Given the description of an element on the screen output the (x, y) to click on. 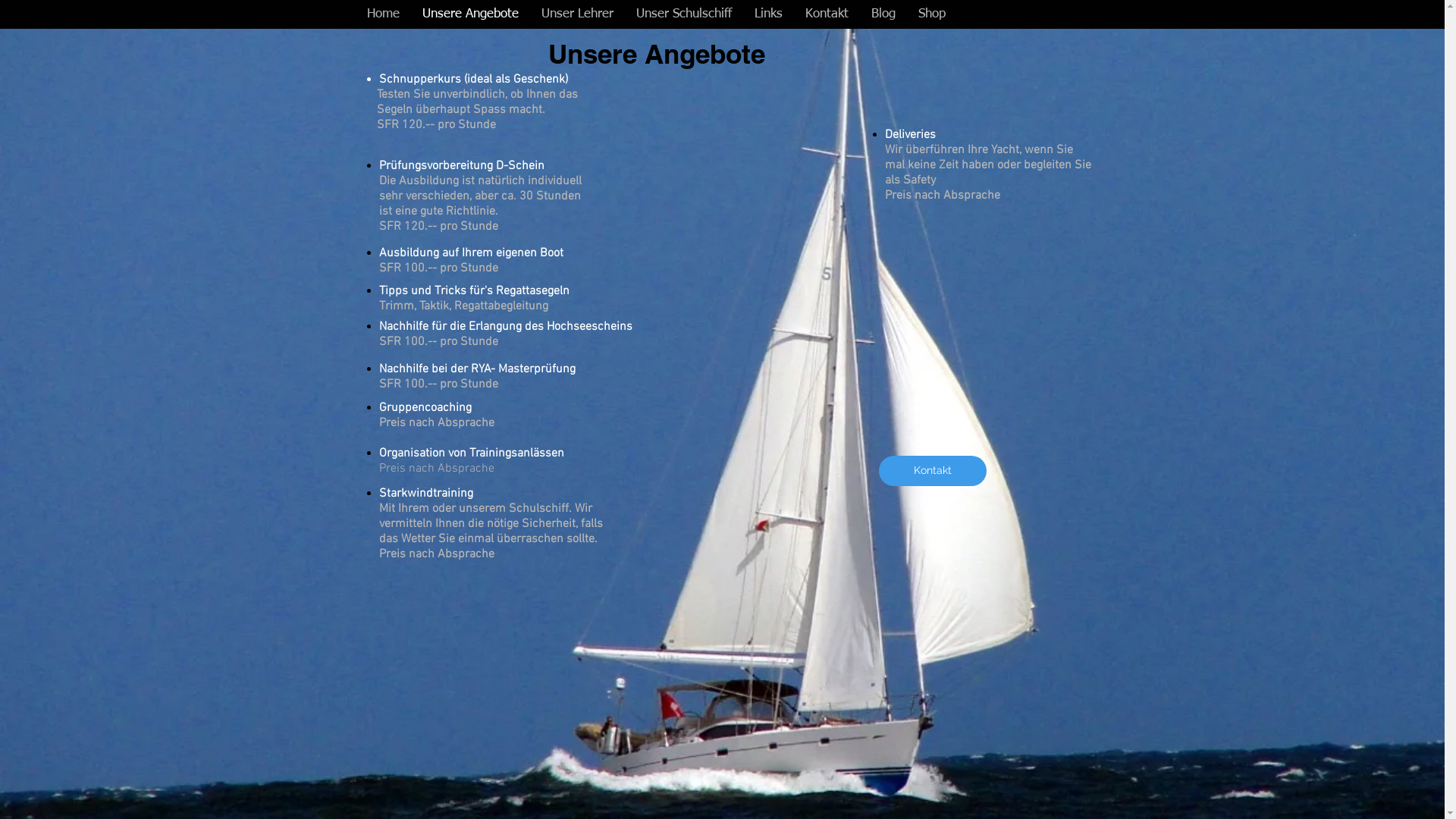
Unser Lehrer Element type: text (576, 14)
Links Element type: text (768, 14)
Kontakt Element type: text (931, 470)
Kontakt Element type: text (826, 14)
Blog Element type: text (882, 14)
Shop Element type: text (931, 14)
Home Element type: text (382, 14)
Unsere Angebote Element type: text (470, 14)
Unser Schulschiff Element type: text (683, 14)
